Given the description of an element on the screen output the (x, y) to click on. 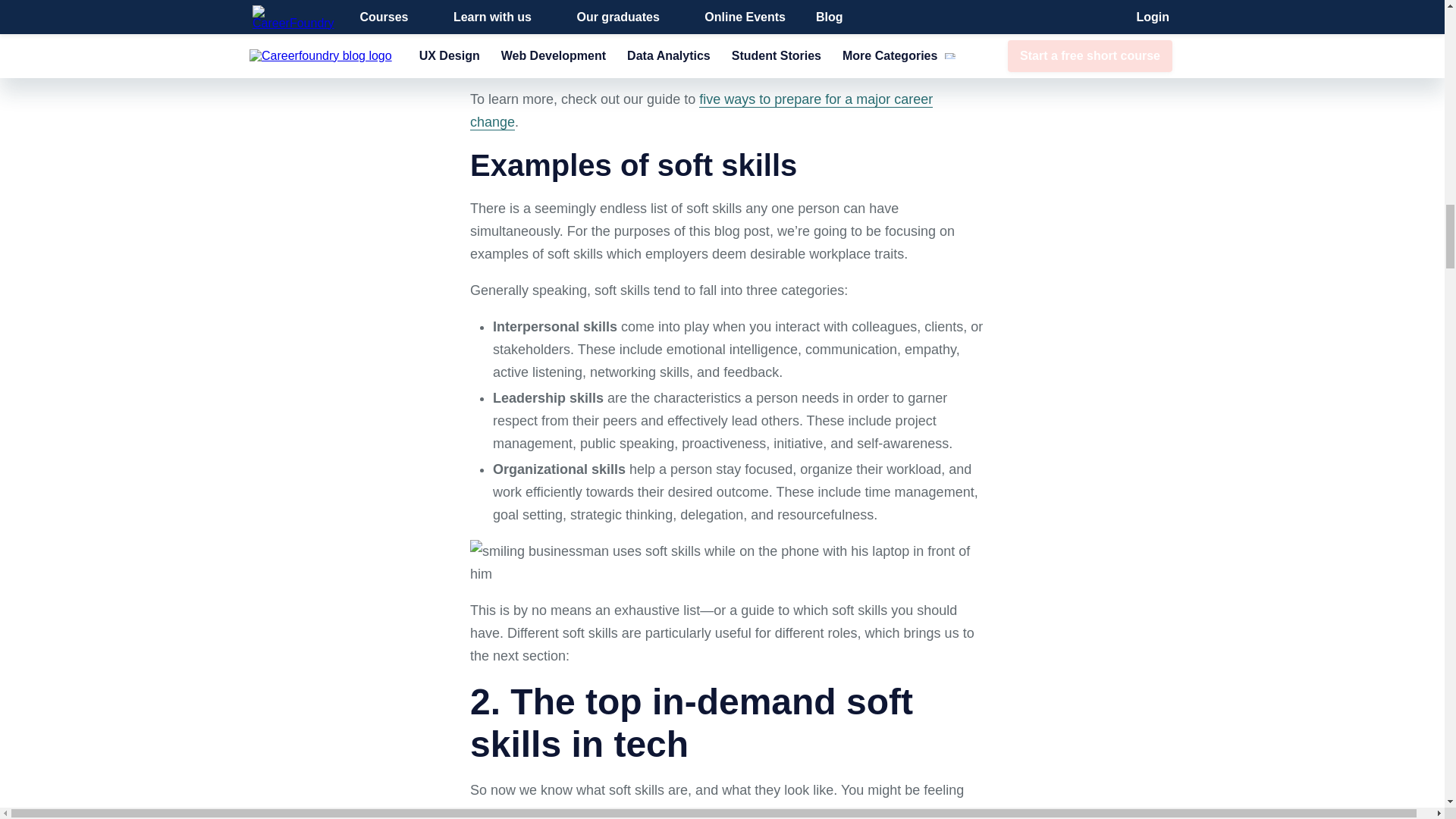
s skills (727, 562)
